Given the description of an element on the screen output the (x, y) to click on. 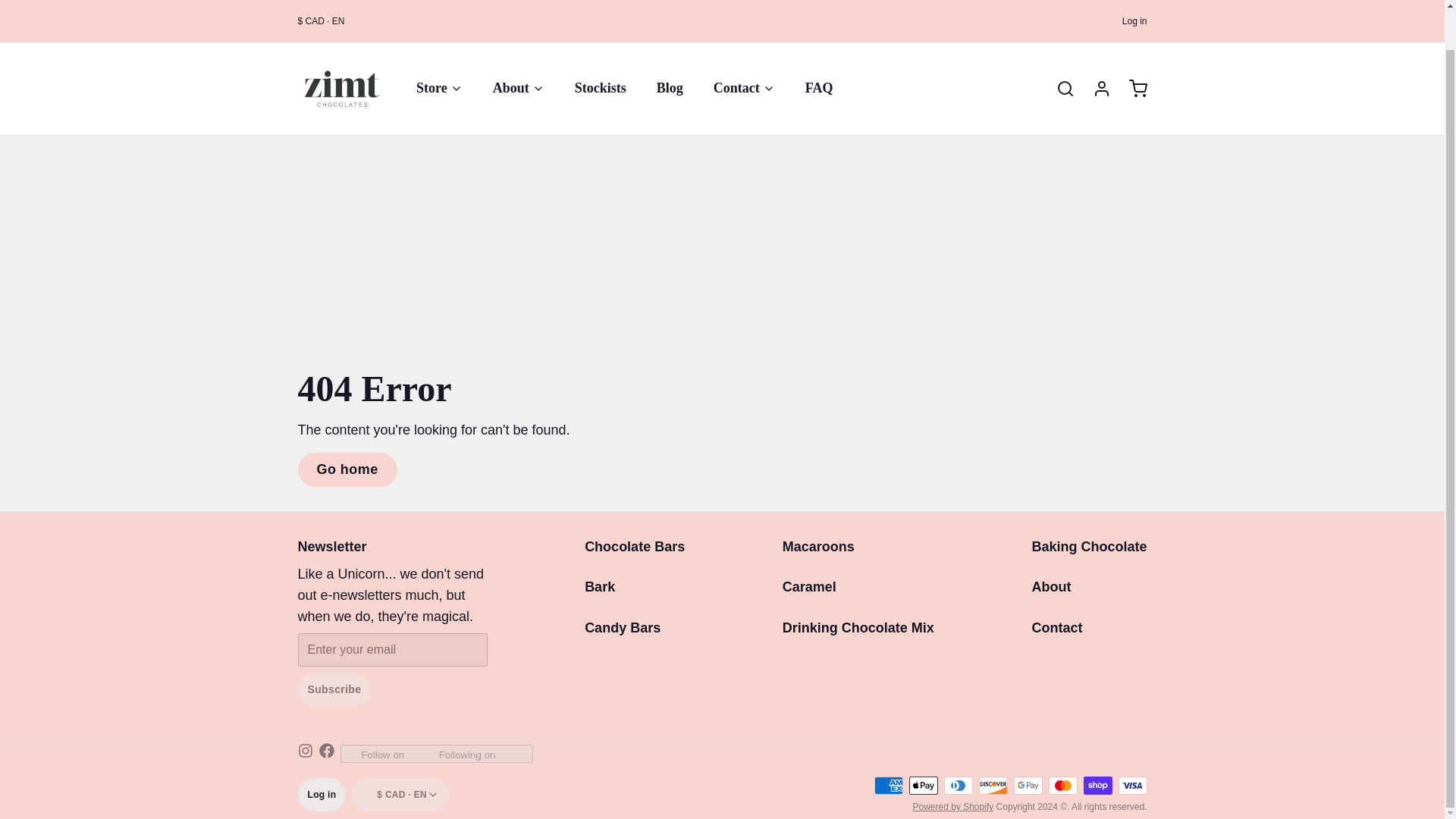
Zimt Chocolates  (341, 47)
Contact (744, 46)
 Log in (1094, 46)
Cart (1131, 46)
About (518, 46)
Store (439, 46)
Stockists (600, 46)
Search (1058, 46)
FAQ (819, 46)
Blog (670, 46)
